Given the description of an element on the screen output the (x, y) to click on. 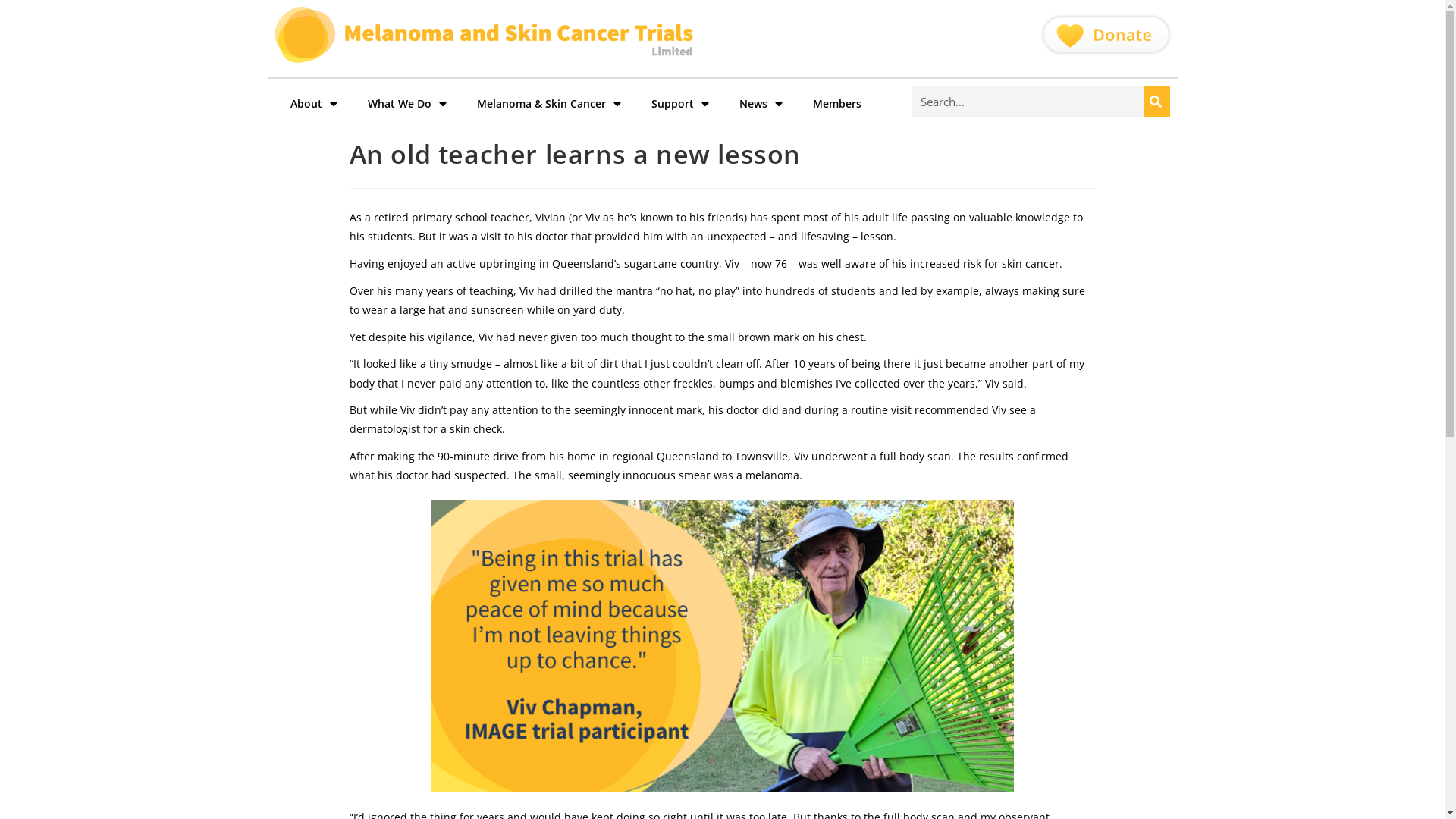
Melanoma & Skin Cancer Element type: text (548, 103)
Support Element type: text (679, 103)
News Element type: text (760, 103)
About Element type: text (312, 103)
Search Element type: hover (1156, 101)
Members Element type: text (836, 103)
What We Do Element type: text (406, 103)
Search Element type: hover (1026, 101)
